Given the description of an element on the screen output the (x, y) to click on. 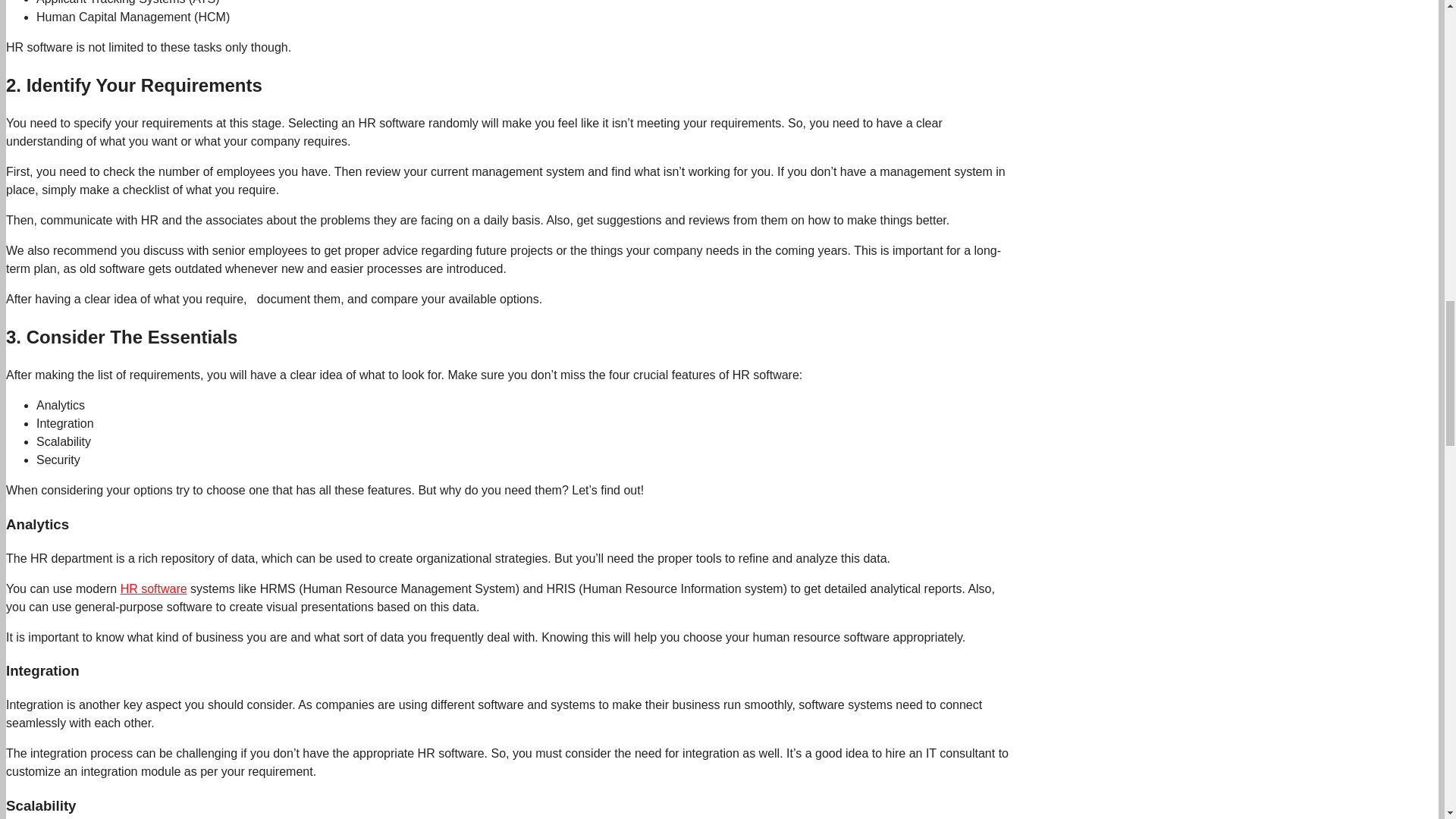
HR software (153, 588)
